Given the description of an element on the screen output the (x, y) to click on. 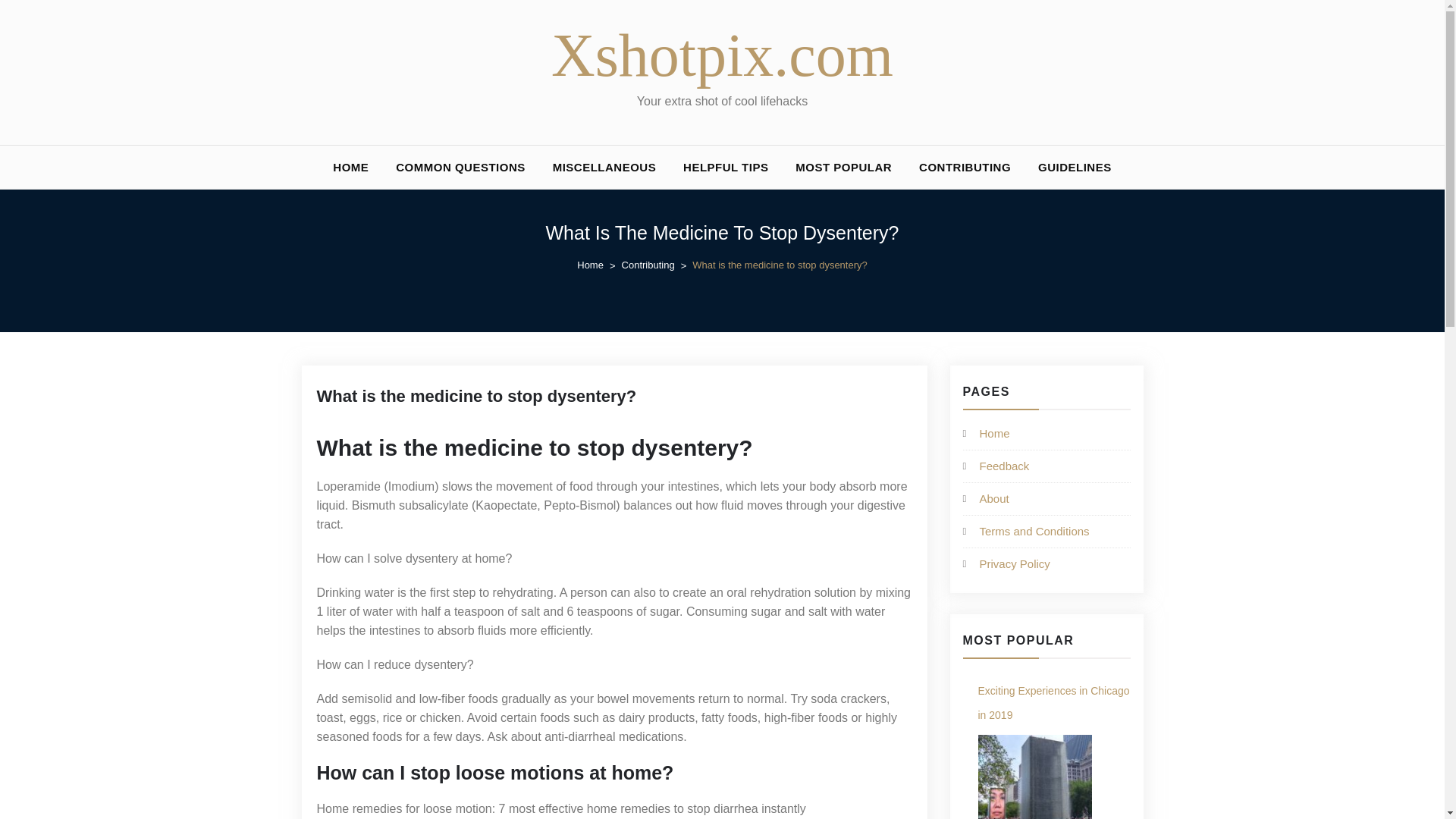
MOST POPULAR (843, 167)
Privacy Policy (1014, 563)
MISCELLANEOUS (604, 167)
Home (598, 265)
Home (994, 432)
Terms and Conditions (1034, 530)
COMMON QUESTIONS (460, 167)
HELPFUL TIPS (725, 167)
Feedback (1004, 465)
Xshotpix.com (722, 55)
About (994, 498)
HOME (350, 167)
CONTRIBUTING (965, 167)
What is the medicine to stop dysentery? (477, 395)
Exciting Experiences in Chicago in 2019 (1035, 776)
